Given the description of an element on the screen output the (x, y) to click on. 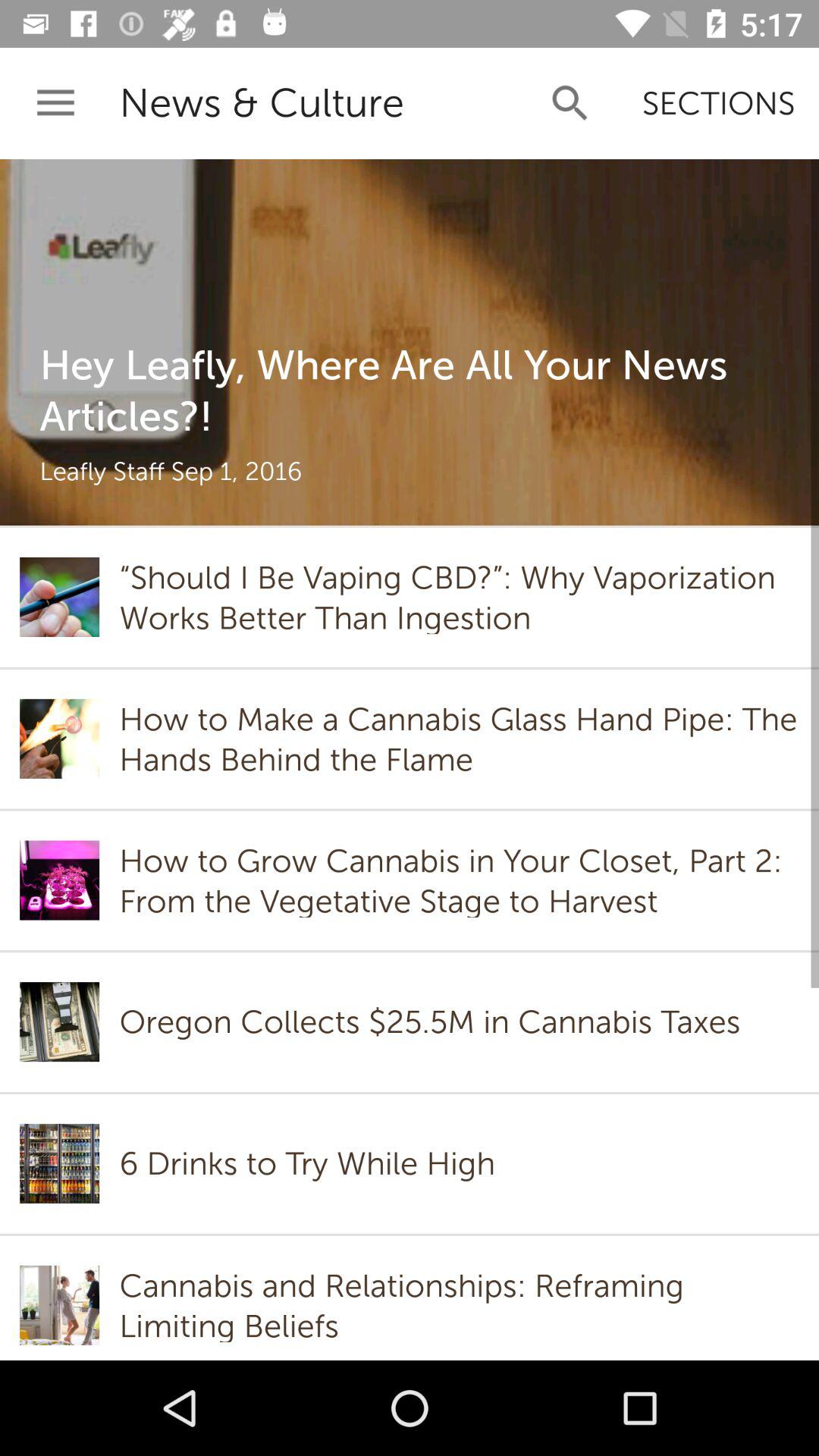
choose cannabis and relationships item (459, 1305)
